Given the description of an element on the screen output the (x, y) to click on. 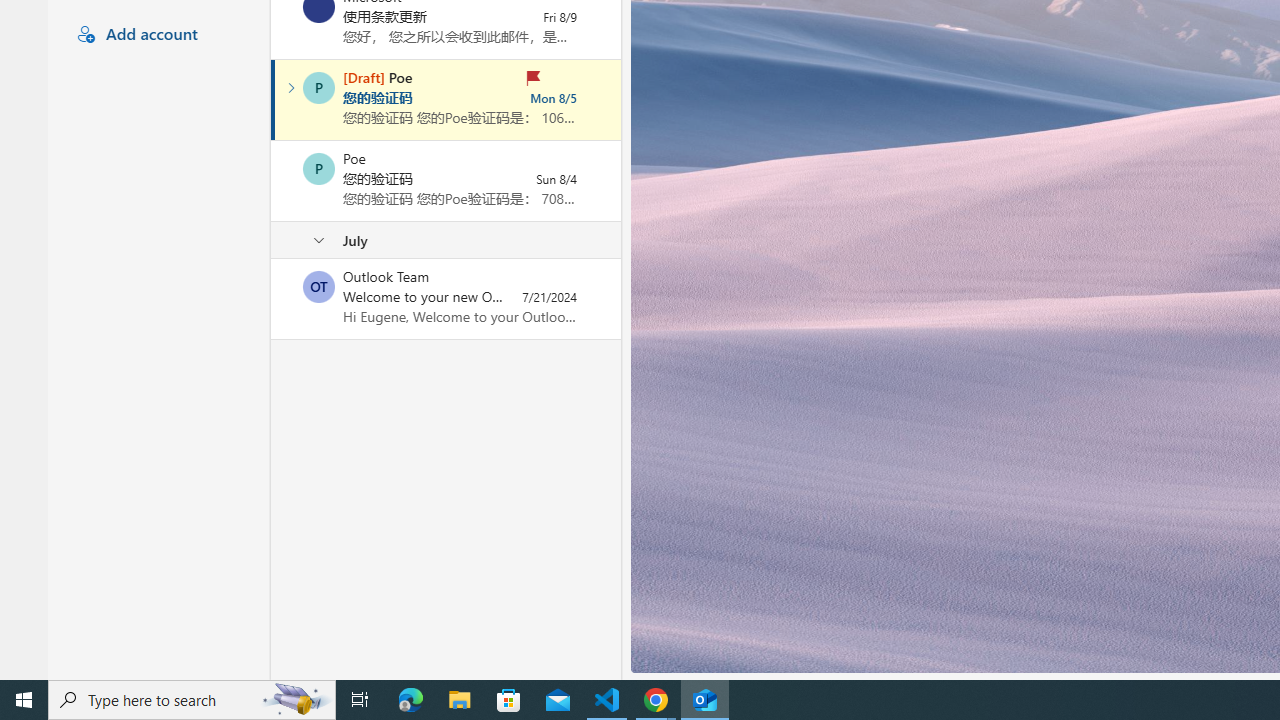
Mark as unread (273, 299)
Outlook Team (319, 286)
Poe (319, 168)
Expand conversation (291, 88)
Mark as read (273, 99)
Select a conversation (319, 286)
